Given the description of an element on the screen output the (x, y) to click on. 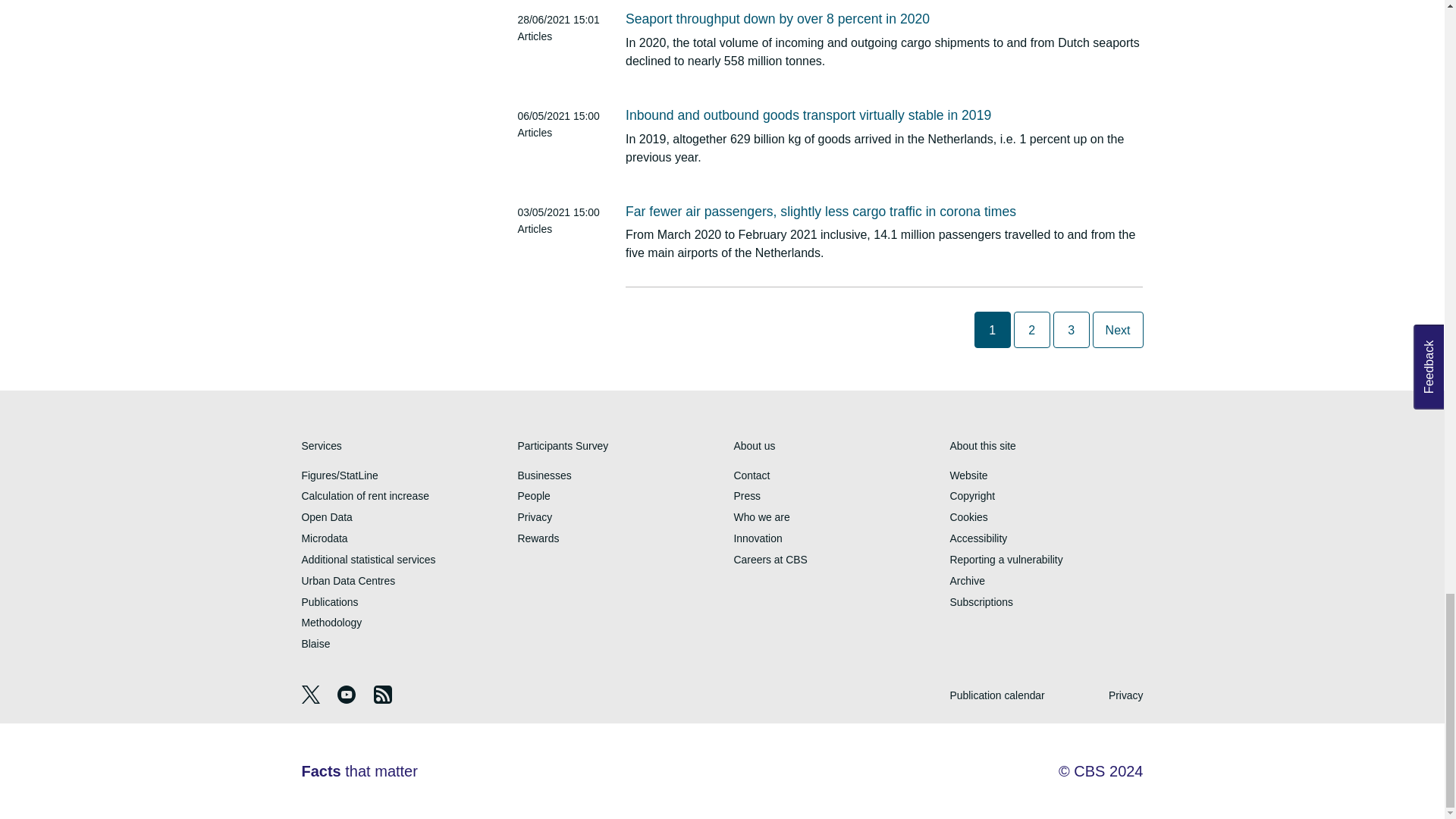
X (312, 699)
YouTube (347, 699)
RSS (382, 699)
